Given the description of an element on the screen output the (x, y) to click on. 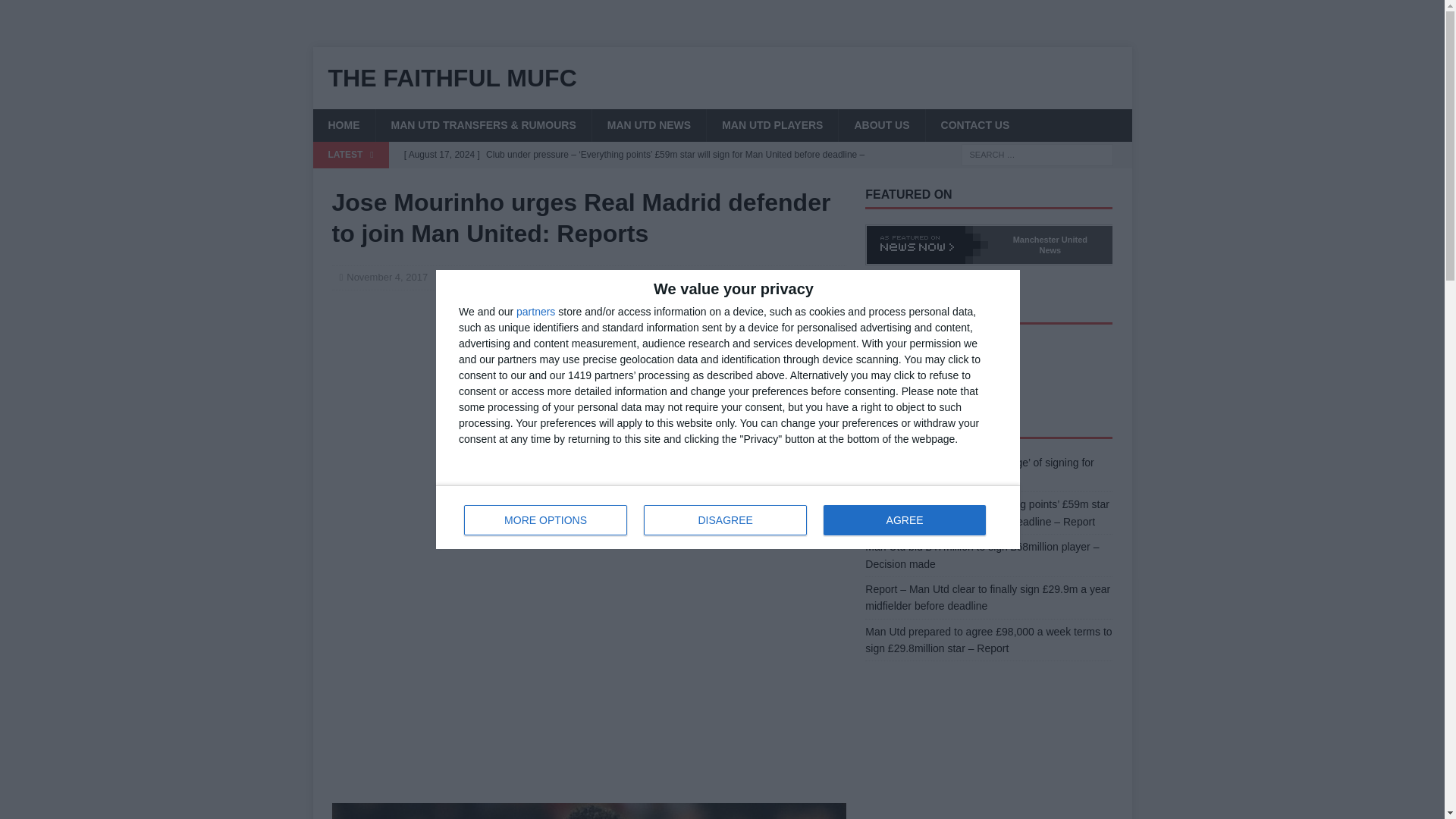
TheFaithfulMUFC (924, 351)
News (502, 276)
HOME (727, 516)
NewsNow (343, 124)
MORE OPTIONS (541, 276)
ABOUT US (545, 520)
MAN UTD PLAYERS (881, 124)
MAN UTD NEWS (772, 124)
Click here for more Manchester United news from NewsNow (648, 124)
